Given the description of an element on the screen output the (x, y) to click on. 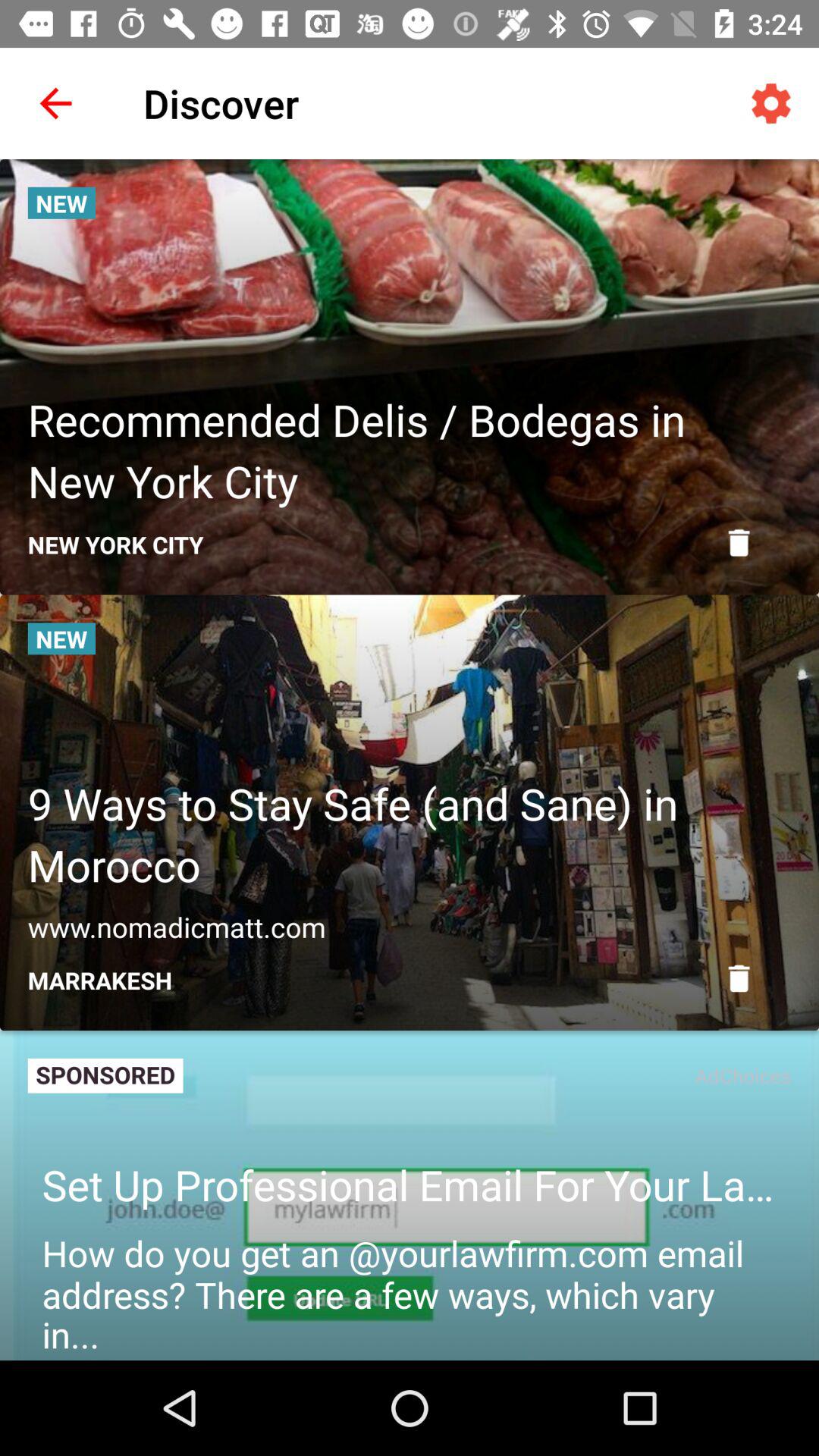
delete option (739, 978)
